Given the description of an element on the screen output the (x, y) to click on. 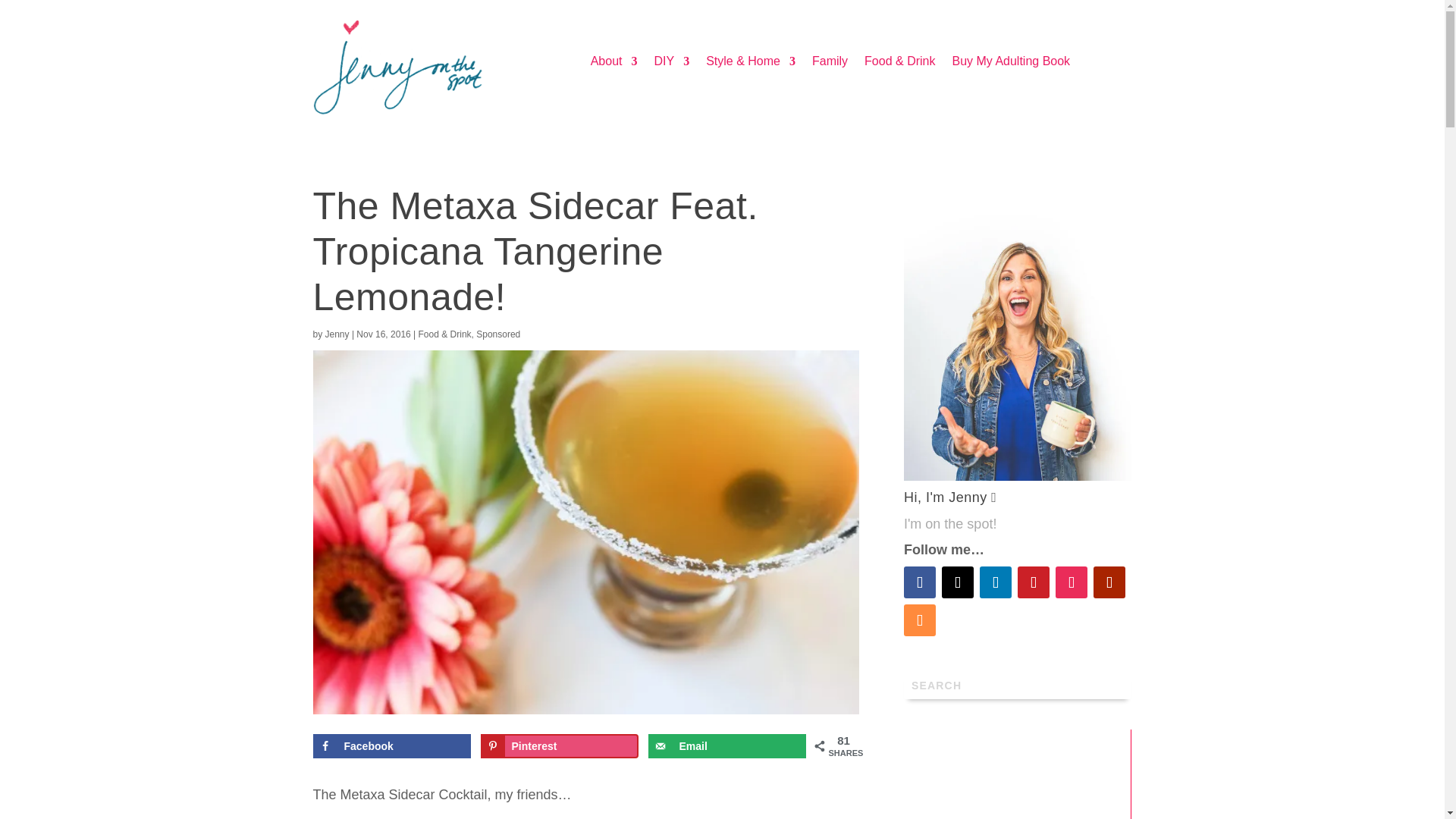
DIY (670, 64)
Send over email (726, 745)
Follow on Facebook (920, 582)
Family (829, 64)
Posts by Jenny (336, 334)
About (614, 64)
Email (726, 745)
Buy My Adulting Book (1011, 64)
Pinterest (559, 745)
Sponsored (497, 334)
